Given the description of an element on the screen output the (x, y) to click on. 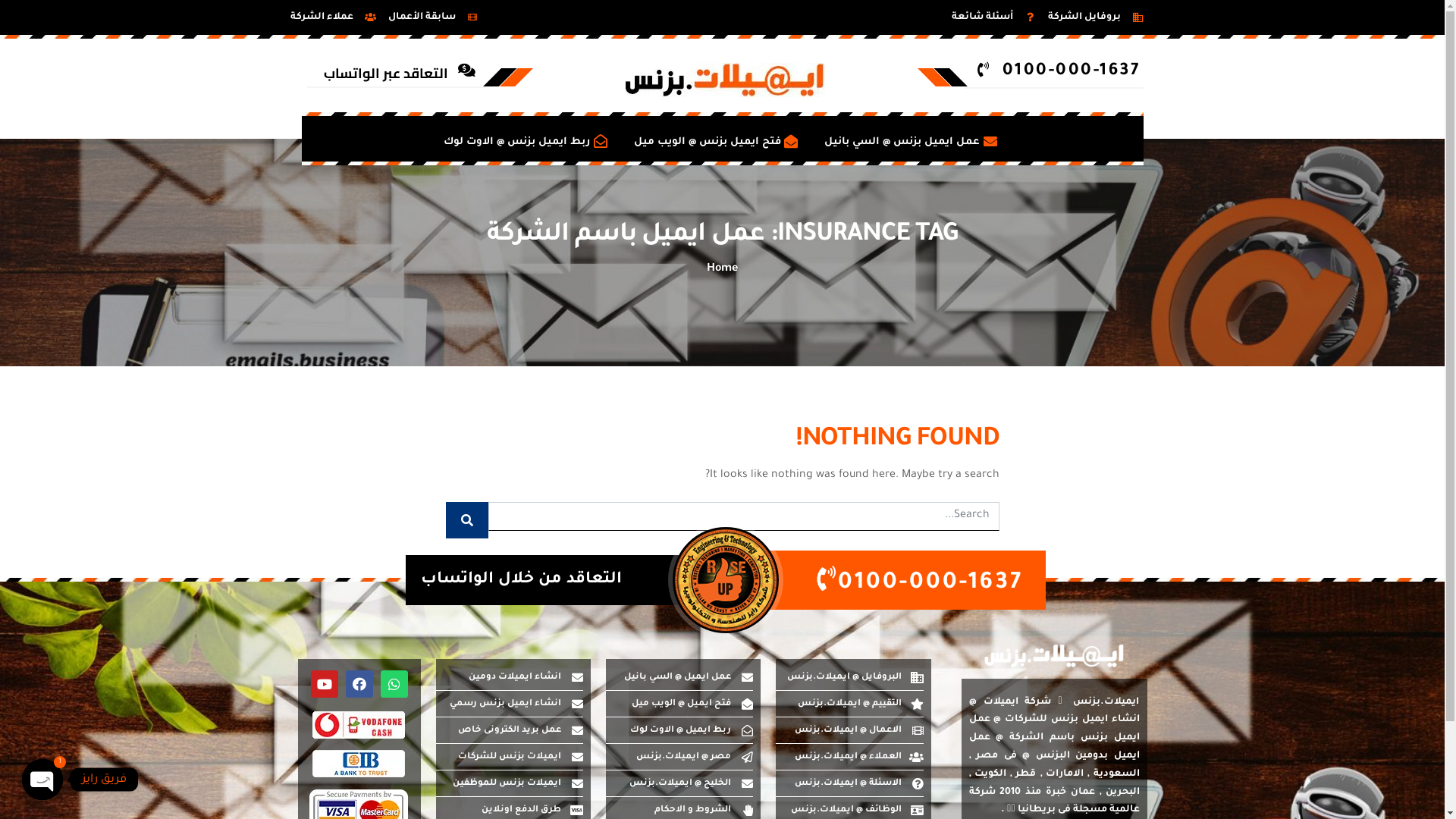
Home Element type: text (721, 269)
0100-000-1637 Element type: text (1053, 72)
0100-000-1637 Element type: text (884, 579)
emails.business Element type: hover (1054, 655)
